Given the description of an element on the screen output the (x, y) to click on. 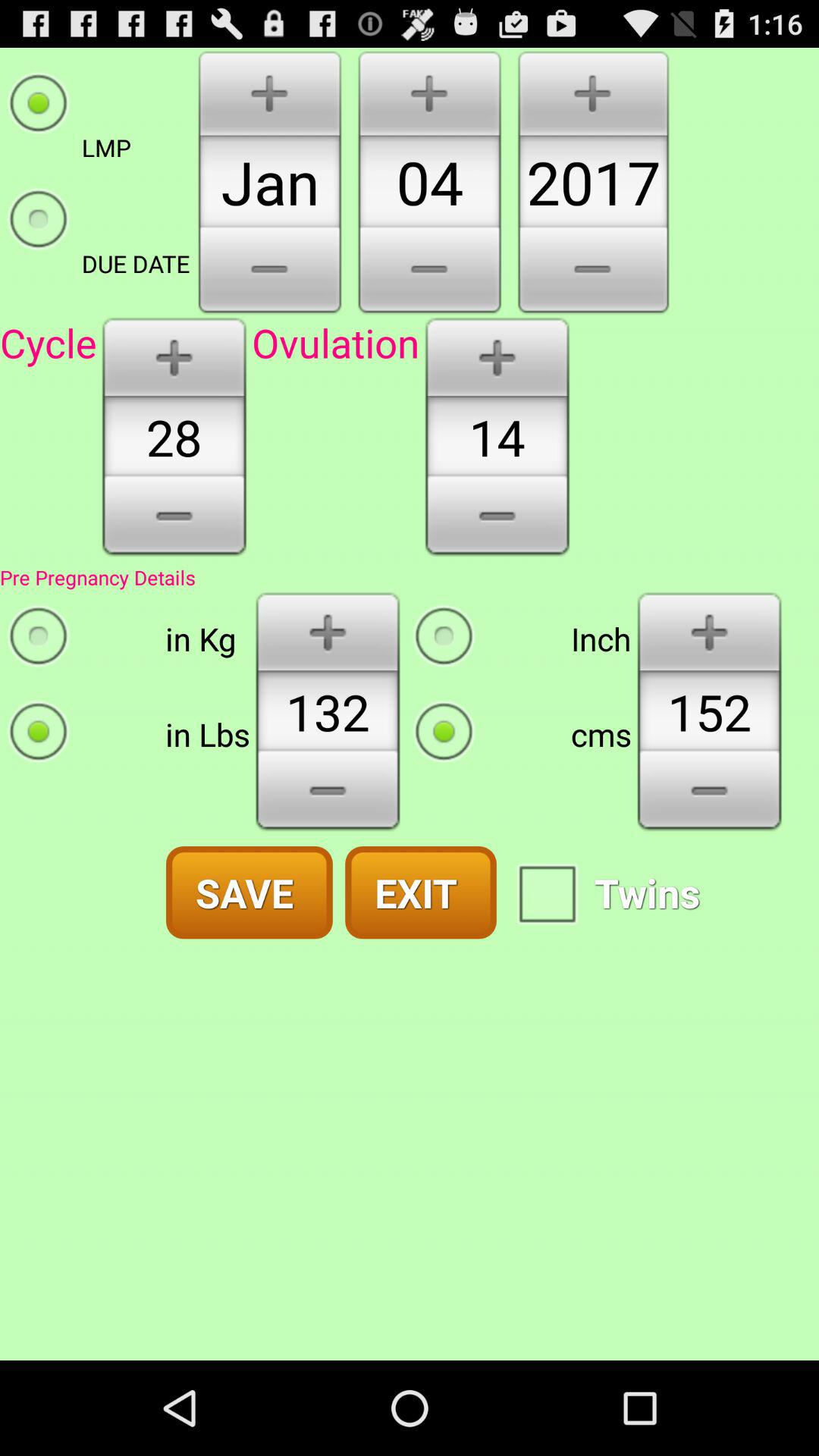
increase (709, 630)
